Given the description of an element on the screen output the (x, y) to click on. 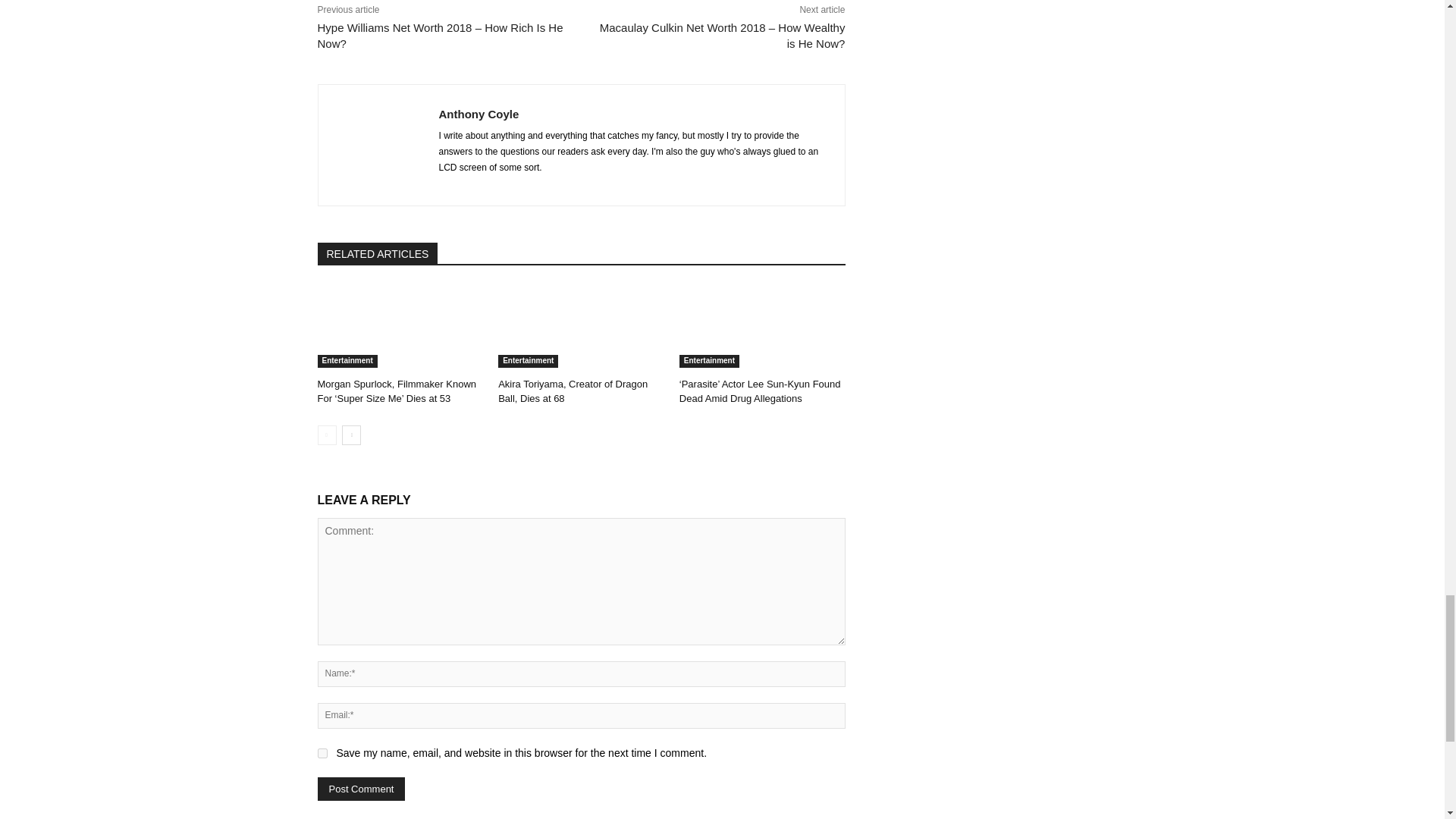
Post Comment (360, 788)
yes (321, 753)
